Given the description of an element on the screen output the (x, y) to click on. 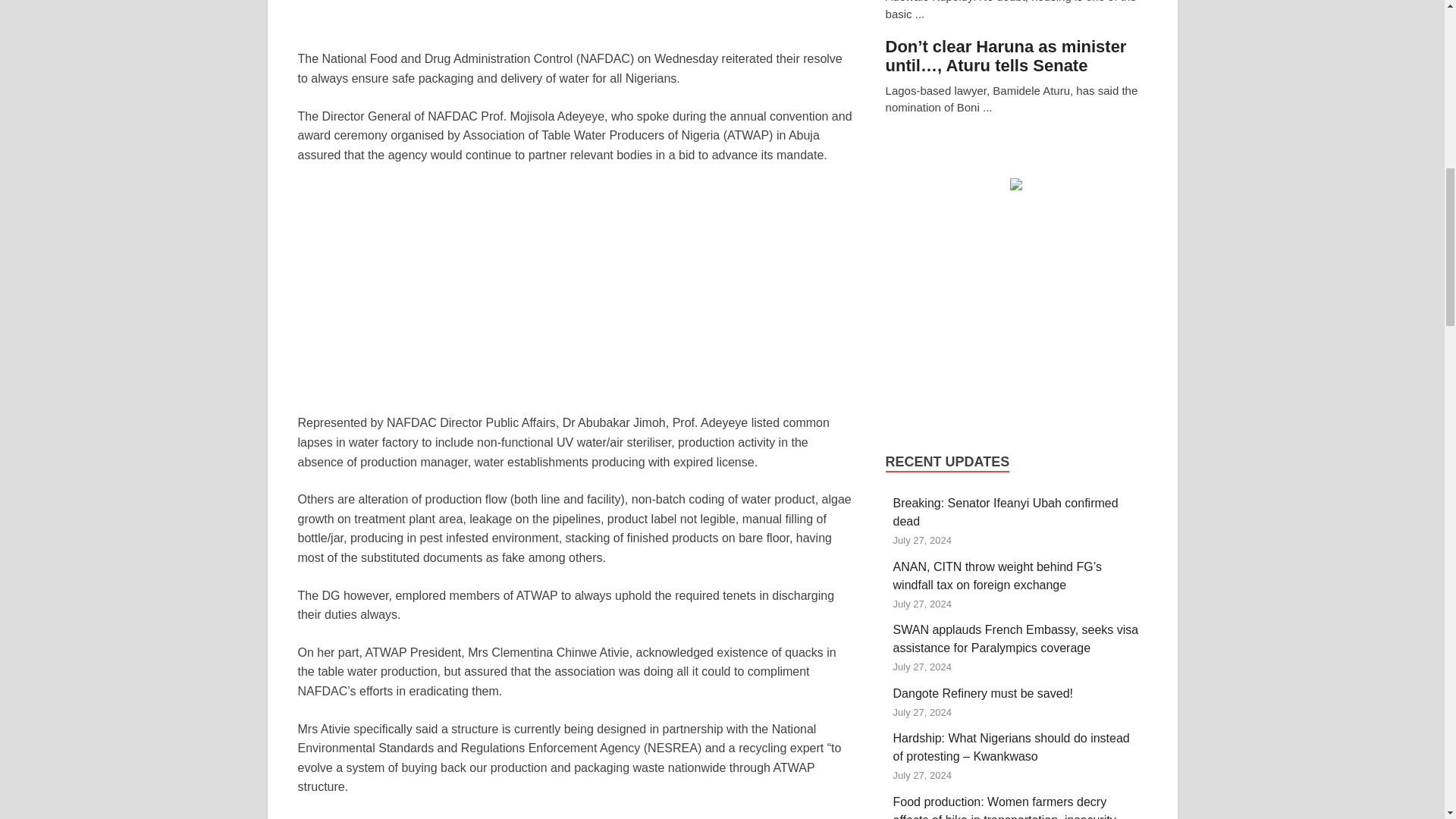
Advertisement (1022, 309)
Advertisement (590, 288)
